Given the description of an element on the screen output the (x, y) to click on. 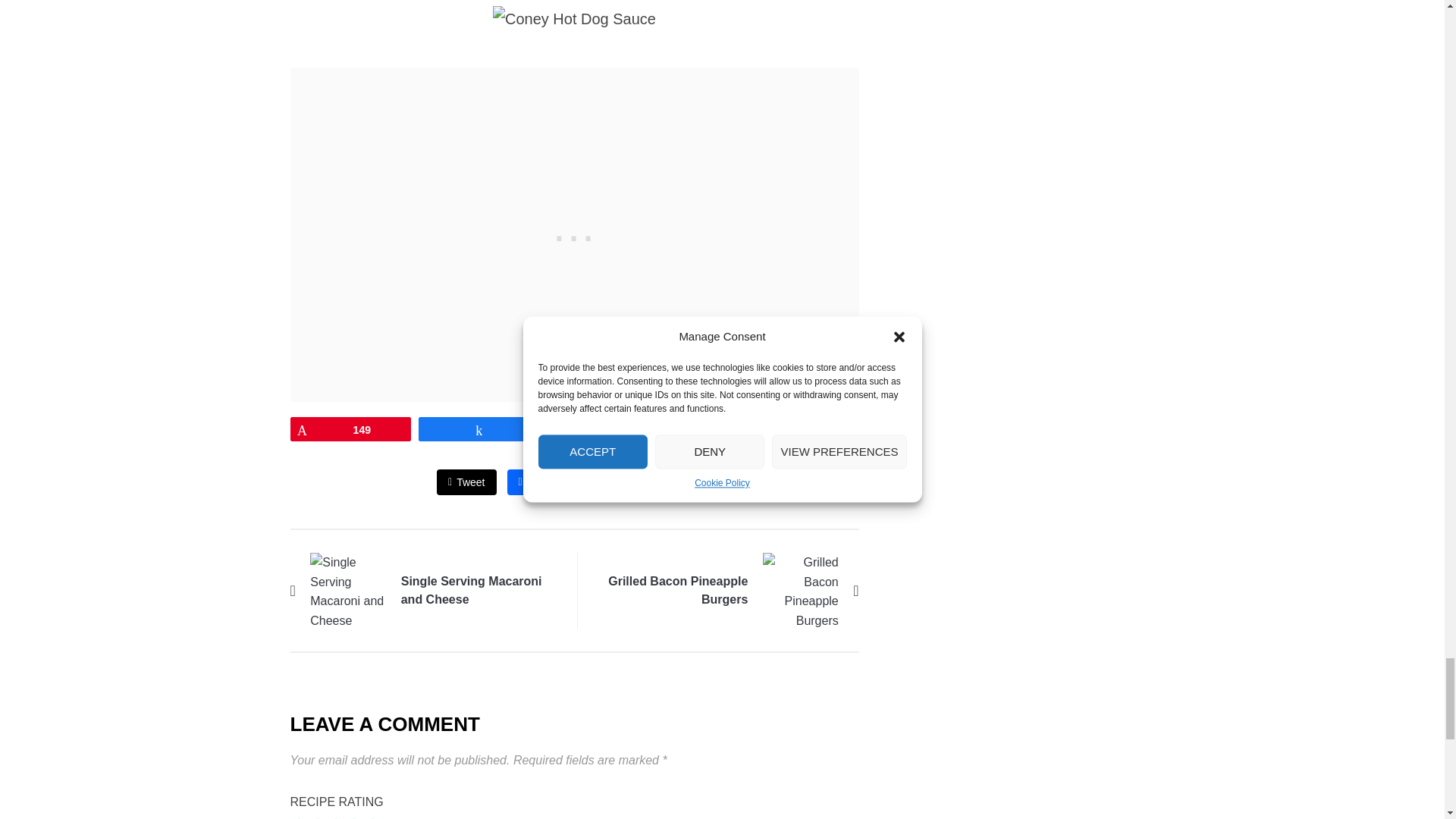
Tweet this on Twitter (466, 482)
Single Serving Macaroni and Cheese (472, 590)
Share this on Facebook (536, 482)
Pin it to Pinterest (603, 482)
Single Serving Macaroni and Cheese (347, 589)
Grilled Bacon Pineapple Burgers (800, 589)
Share this on Yummly (677, 482)
Grilled Bacon Pineapple Burgers (677, 590)
